Given the description of an element on the screen output the (x, y) to click on. 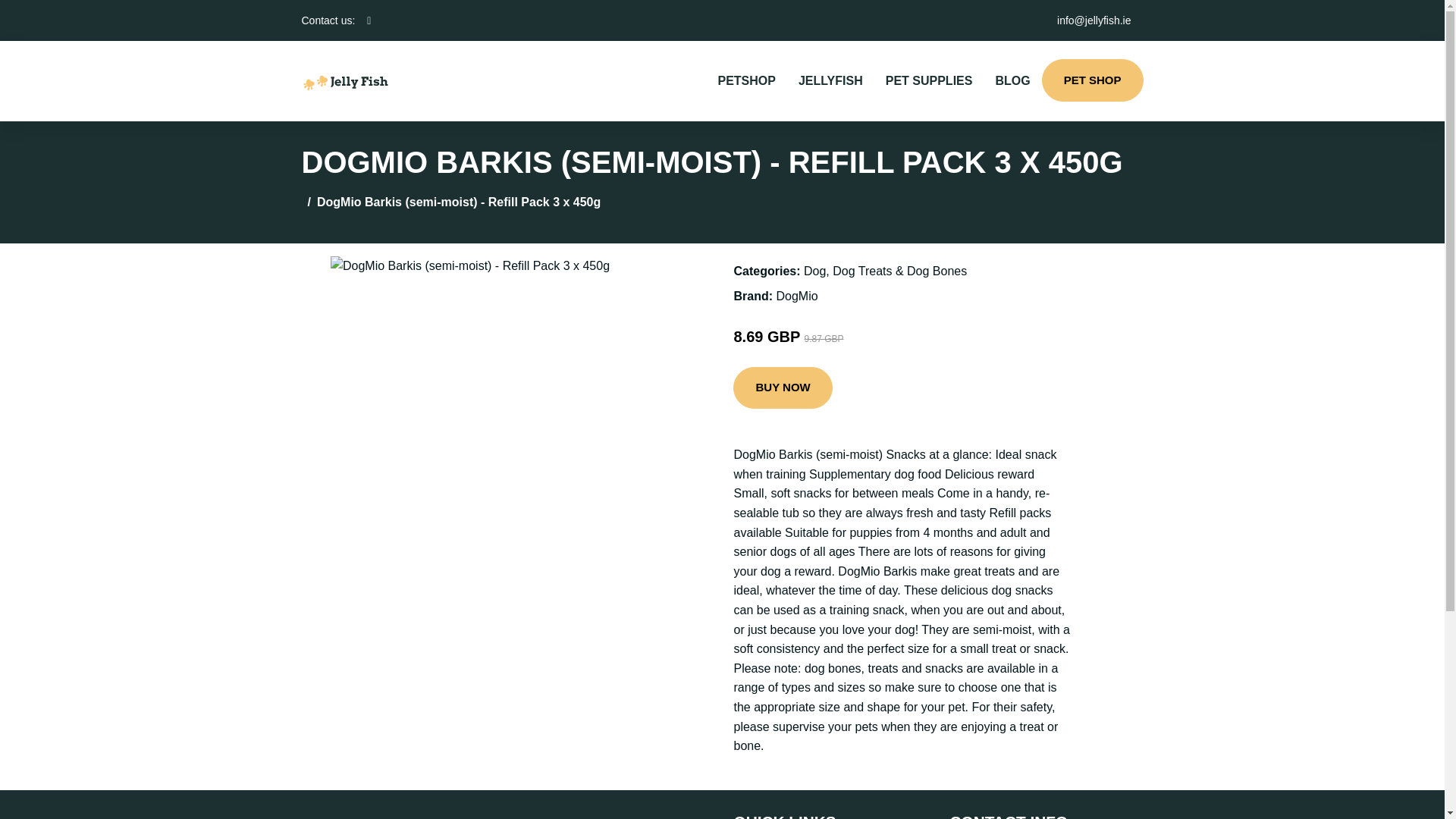
PET SUPPLIES (929, 80)
JELLYFISH (831, 80)
PET SHOP (1092, 79)
Dog (814, 270)
BUY NOW (782, 387)
PETSHOP (746, 80)
